Given the description of an element on the screen output the (x, y) to click on. 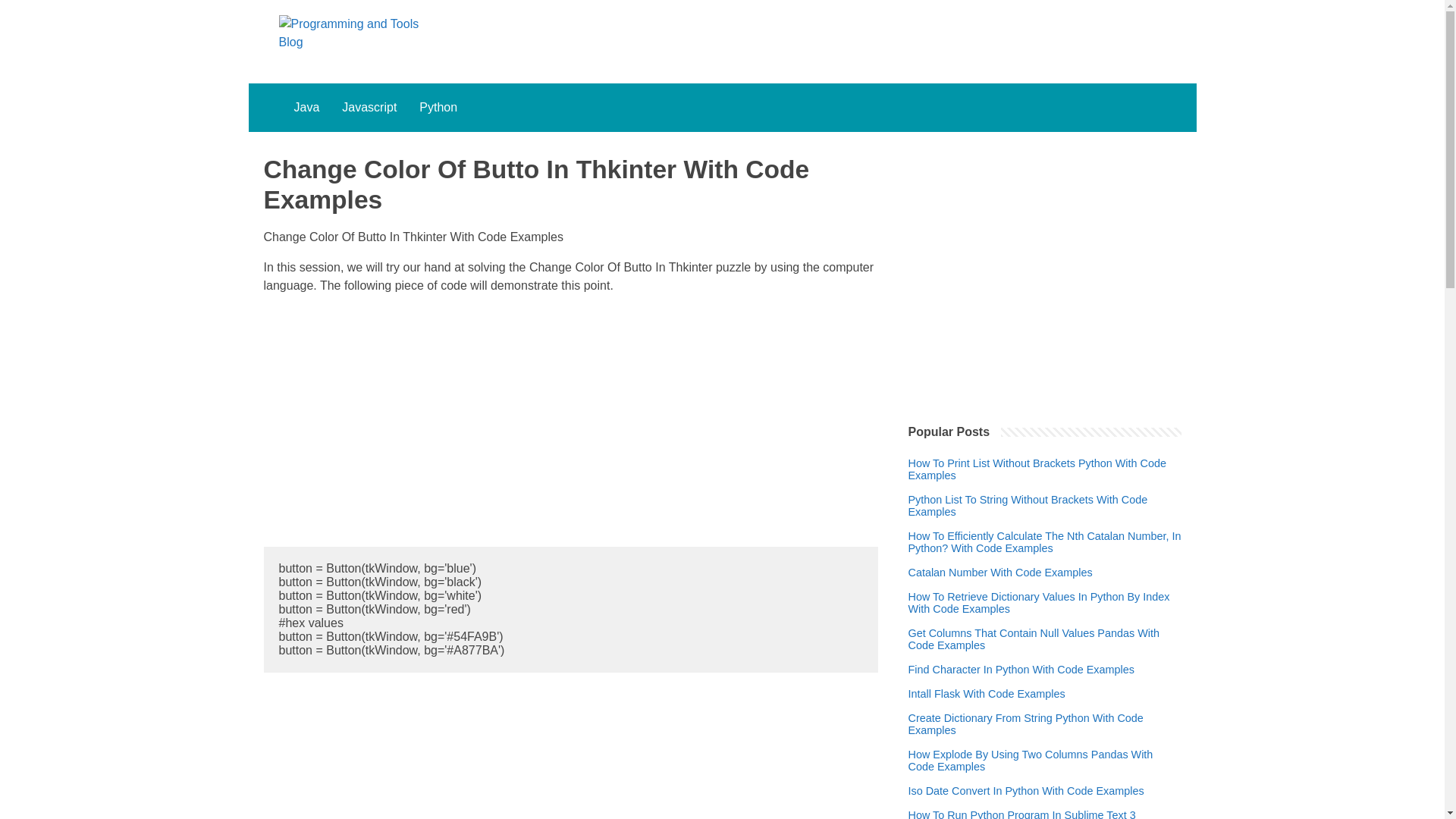
Javascript (369, 107)
How To Print List Without Brackets Python With Code Examples (1044, 469)
Find Character In Python With Code Examples (1021, 669)
How Explode By Using Two Columns Pandas With Code Examples (1044, 760)
Catalan Number With Code Examples (1000, 572)
Iso Date Convert In Python With Code Examples (1026, 790)
Python (438, 107)
